Given the description of an element on the screen output the (x, y) to click on. 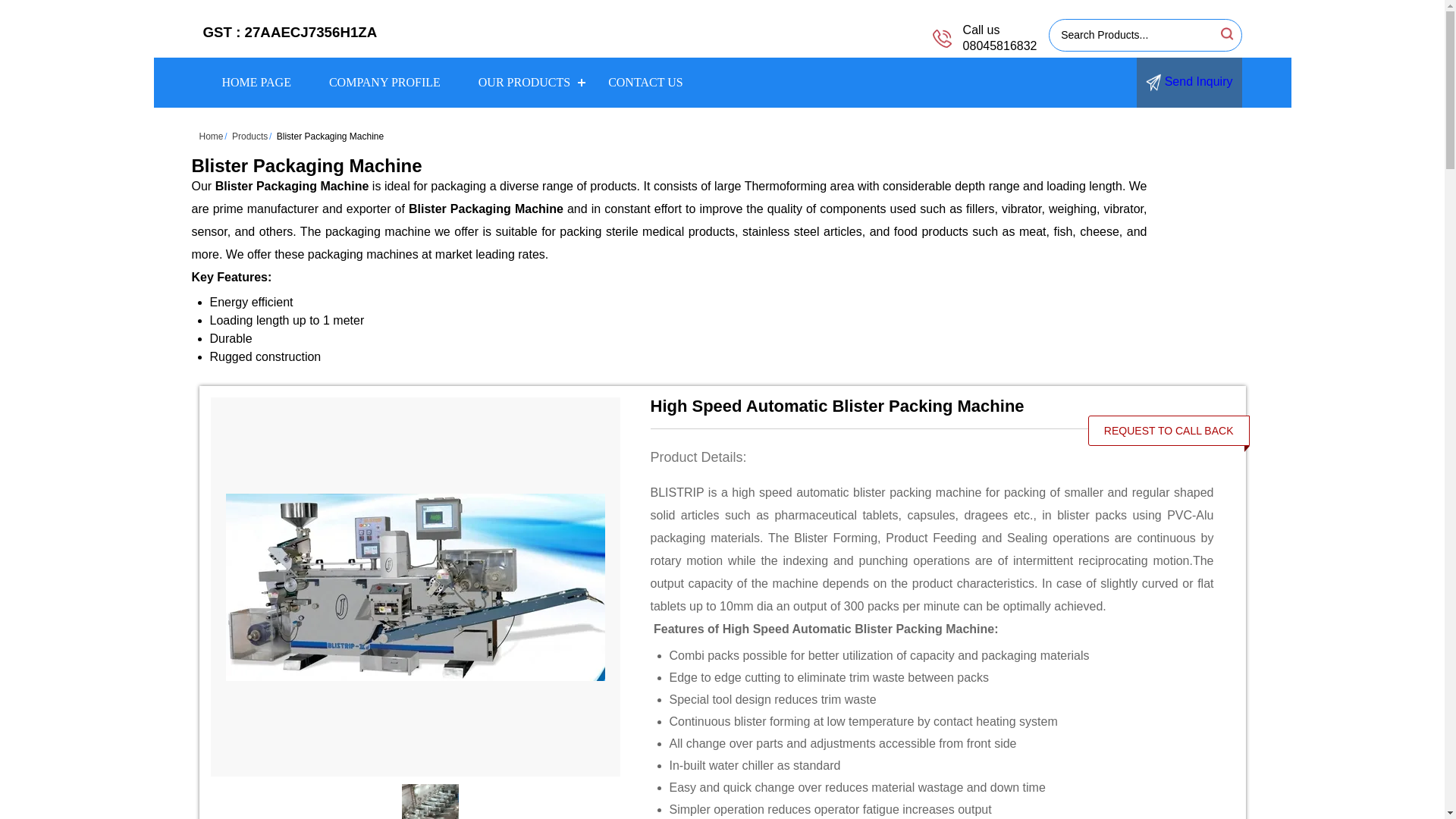
submit (1225, 33)
OUR PRODUCTS (524, 82)
Search Products... (1133, 34)
Products (249, 136)
HOME PAGE (256, 82)
High Speed Automatic Blister Packing Machine (932, 406)
CONTACT US (645, 82)
Search Products... (1133, 34)
Search (1225, 33)
REQUEST TO CALL BACK (1169, 430)
Home (210, 136)
COMPANY PROFILE (385, 82)
Send Inquiry (1188, 82)
